Given the description of an element on the screen output the (x, y) to click on. 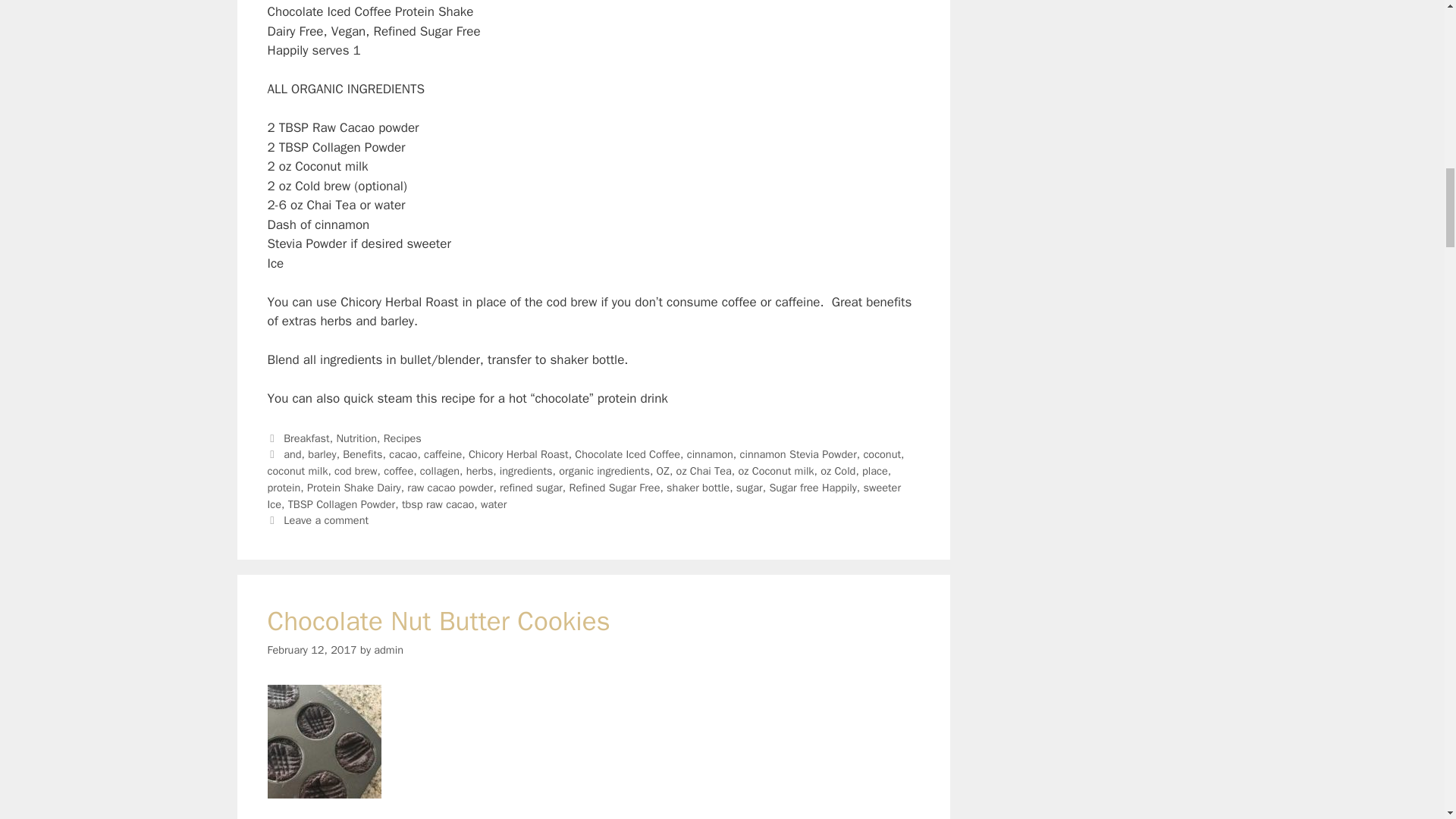
View all posts by admin (388, 649)
